Given the description of an element on the screen output the (x, y) to click on. 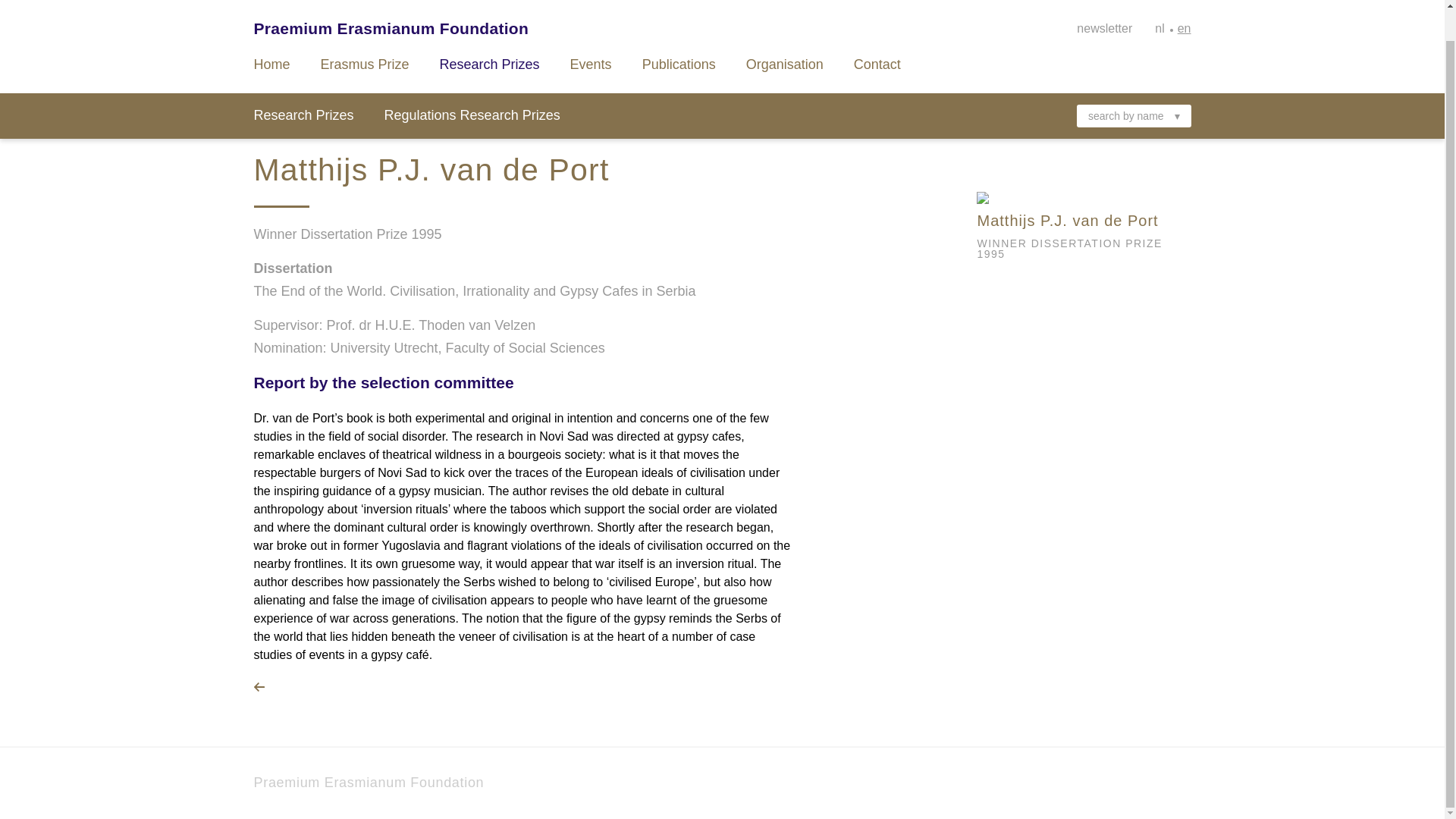
Contact (877, 32)
Erasmus Prize (364, 32)
Praemium Erasmianum Foundation (368, 782)
Home (271, 32)
en (1184, 1)
Regulations Research Prizes (472, 83)
Events (590, 32)
newsletter (1104, 1)
